Given the description of an element on the screen output the (x, y) to click on. 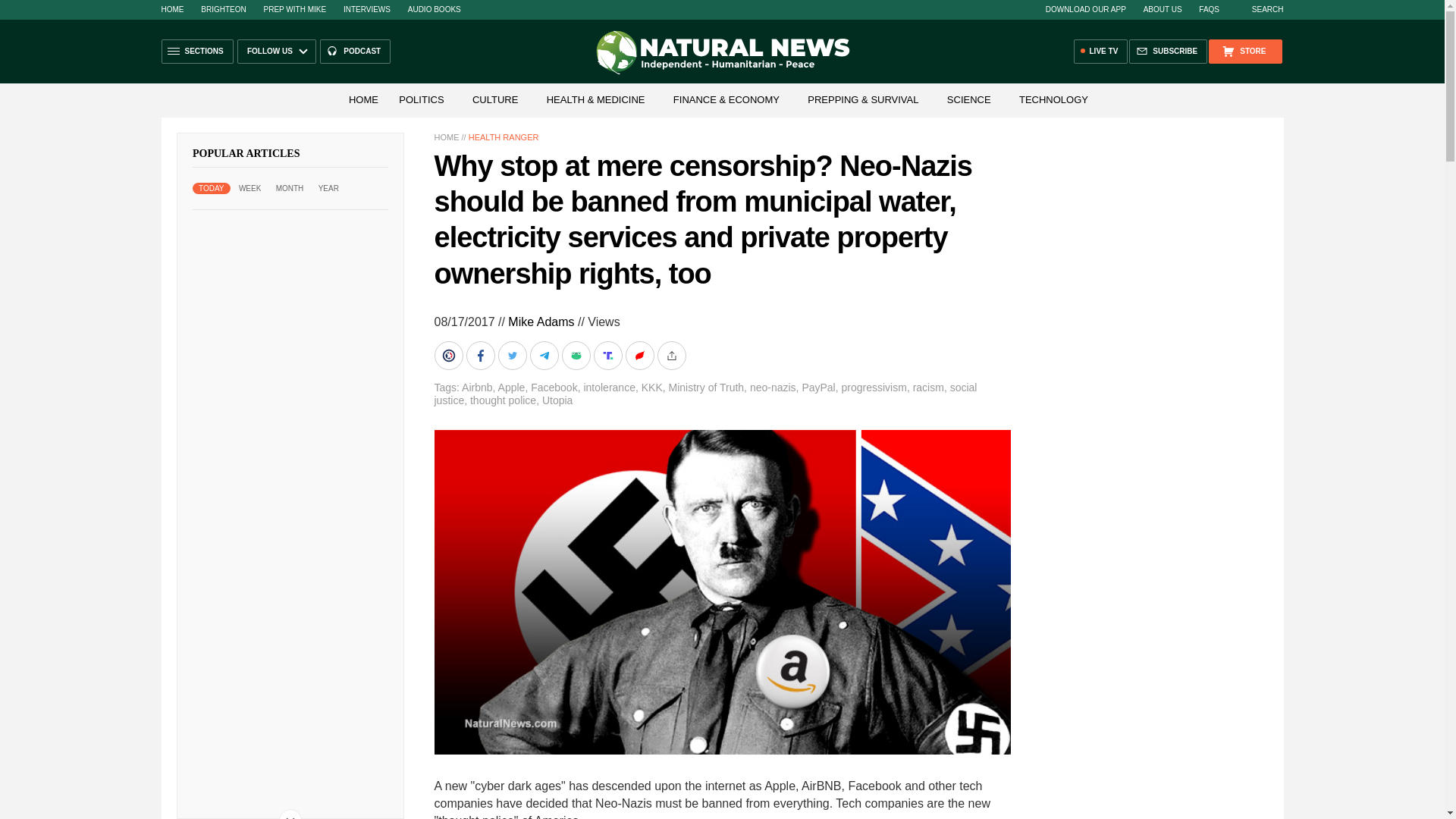
FAQS (1209, 8)
HEALTH RANGER (503, 136)
Scroll Down (290, 814)
CULTURE (495, 99)
HOME (445, 136)
Share on Gettr (640, 355)
TECHNOLOGY (1053, 99)
ABOUT US (1162, 8)
SUBSCRIBE (1168, 51)
Share on Brighteon.Social (449, 355)
